Given the description of an element on the screen output the (x, y) to click on. 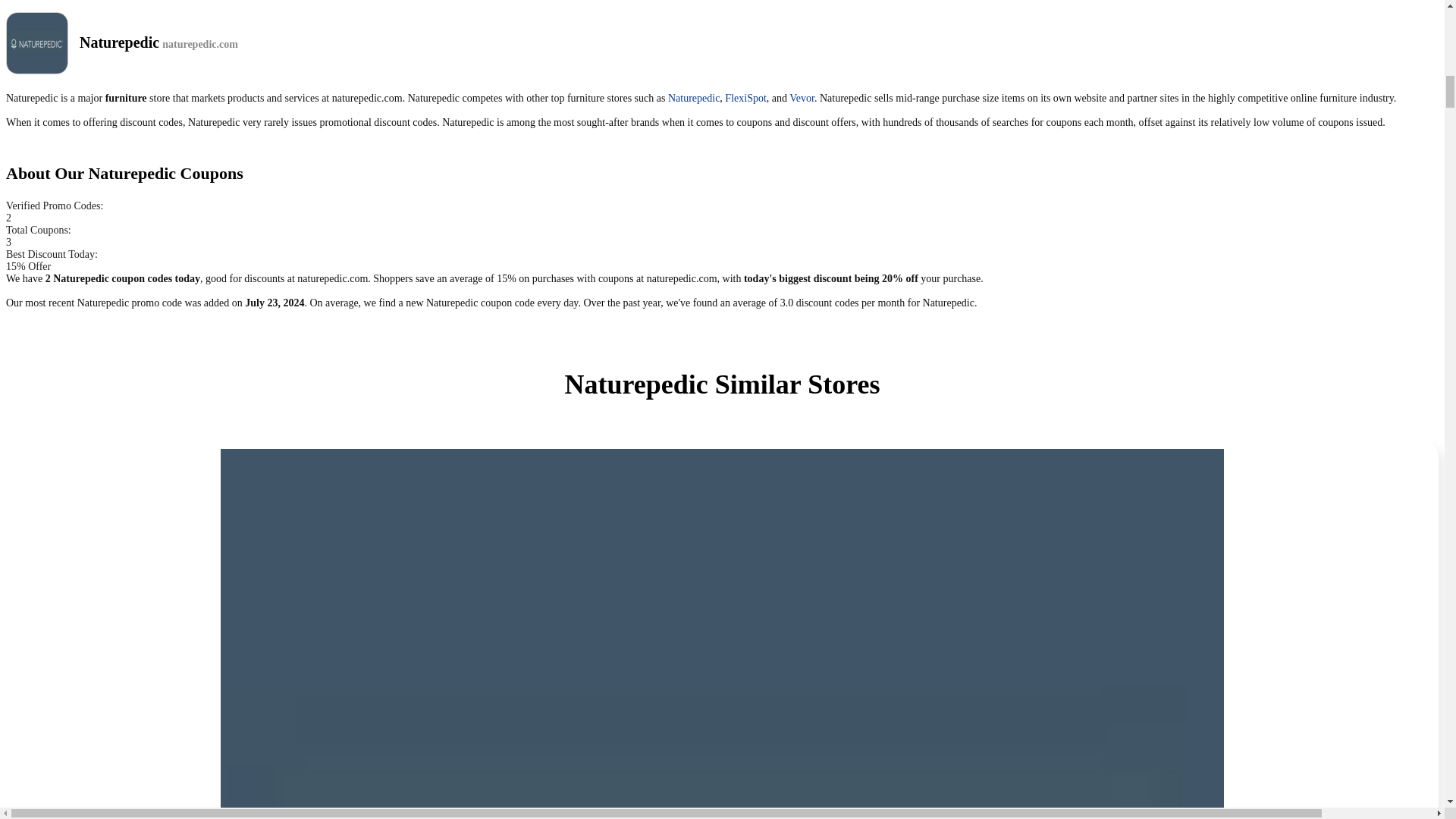
FlexiSpot (745, 98)
Vevor (801, 98)
Naturepedic (693, 98)
